Given the description of an element on the screen output the (x, y) to click on. 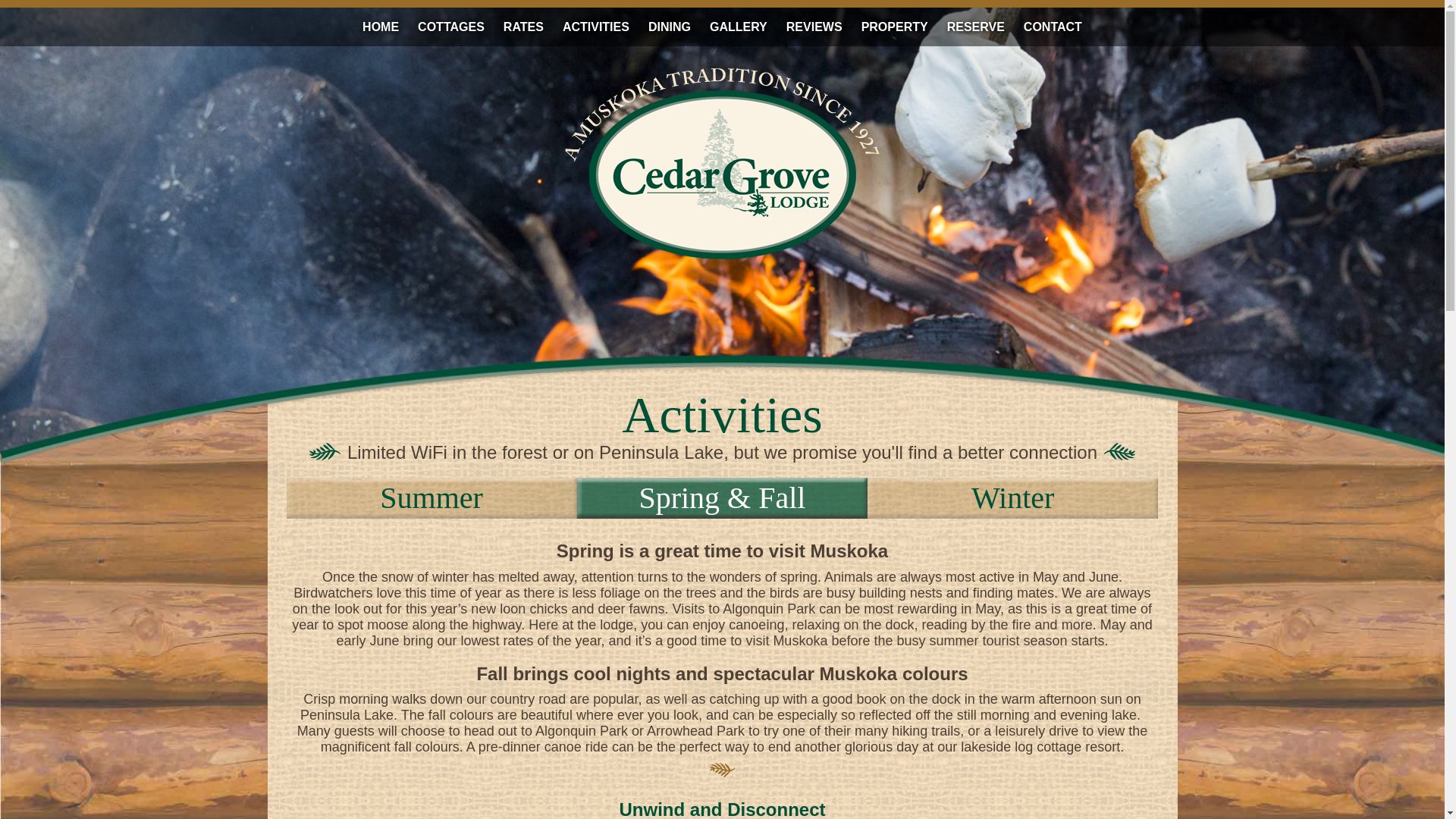
COTTAGES (451, 26)
Summer (431, 497)
HOME (380, 26)
DINING (669, 26)
GALLERY (737, 26)
RATES (523, 26)
REVIEWS (814, 26)
ACTIVITIES (595, 26)
PROPERTY (894, 26)
RESERVE (975, 26)
CONTACT (1052, 26)
Winter (1012, 497)
